Given the description of an element on the screen output the (x, y) to click on. 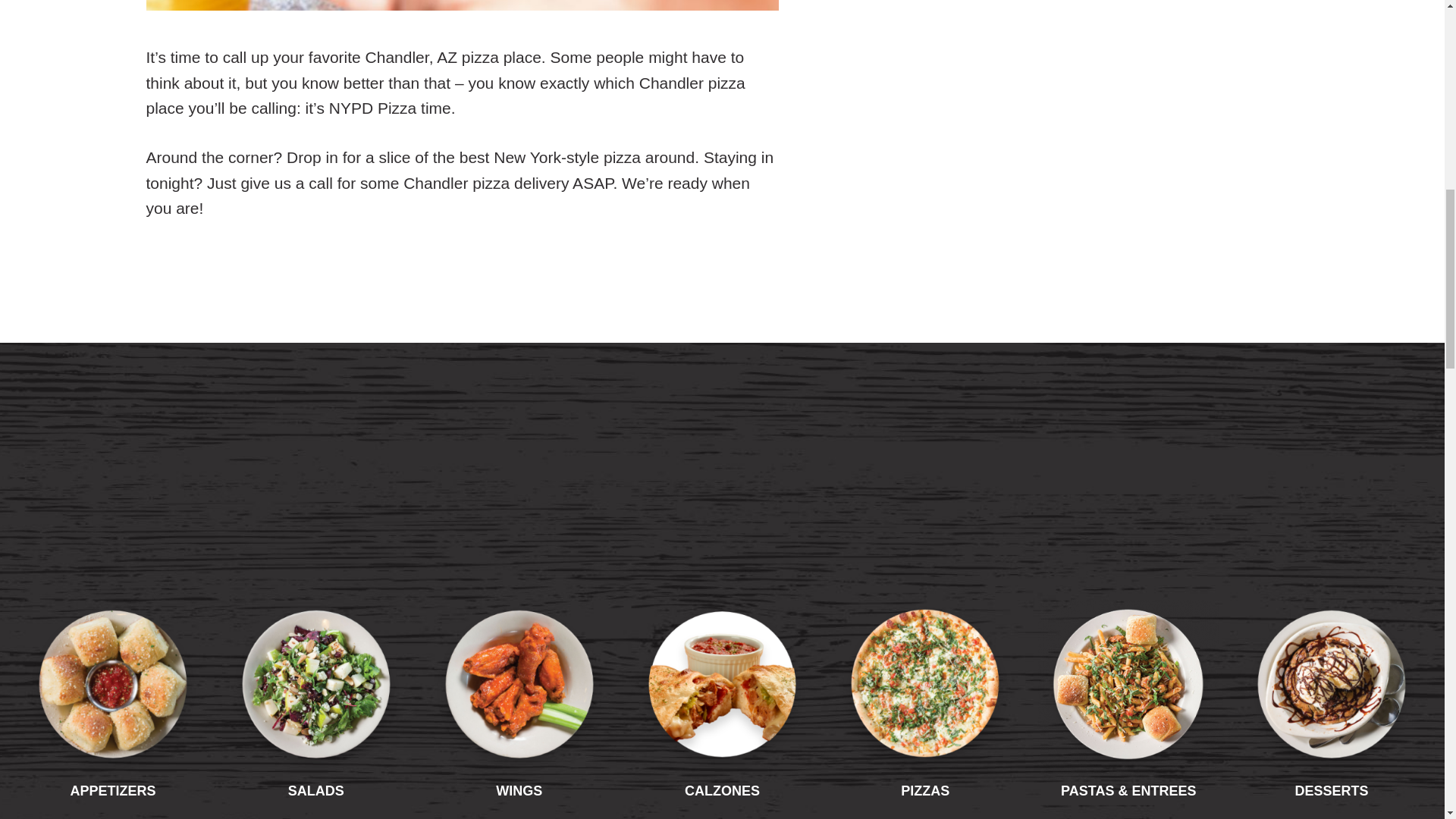
WINGS (519, 741)
CALZONES (721, 741)
DESSERTS (1331, 741)
SALADS (315, 741)
PIZZAS (924, 741)
APPETIZERS (113, 741)
